Given the description of an element on the screen output the (x, y) to click on. 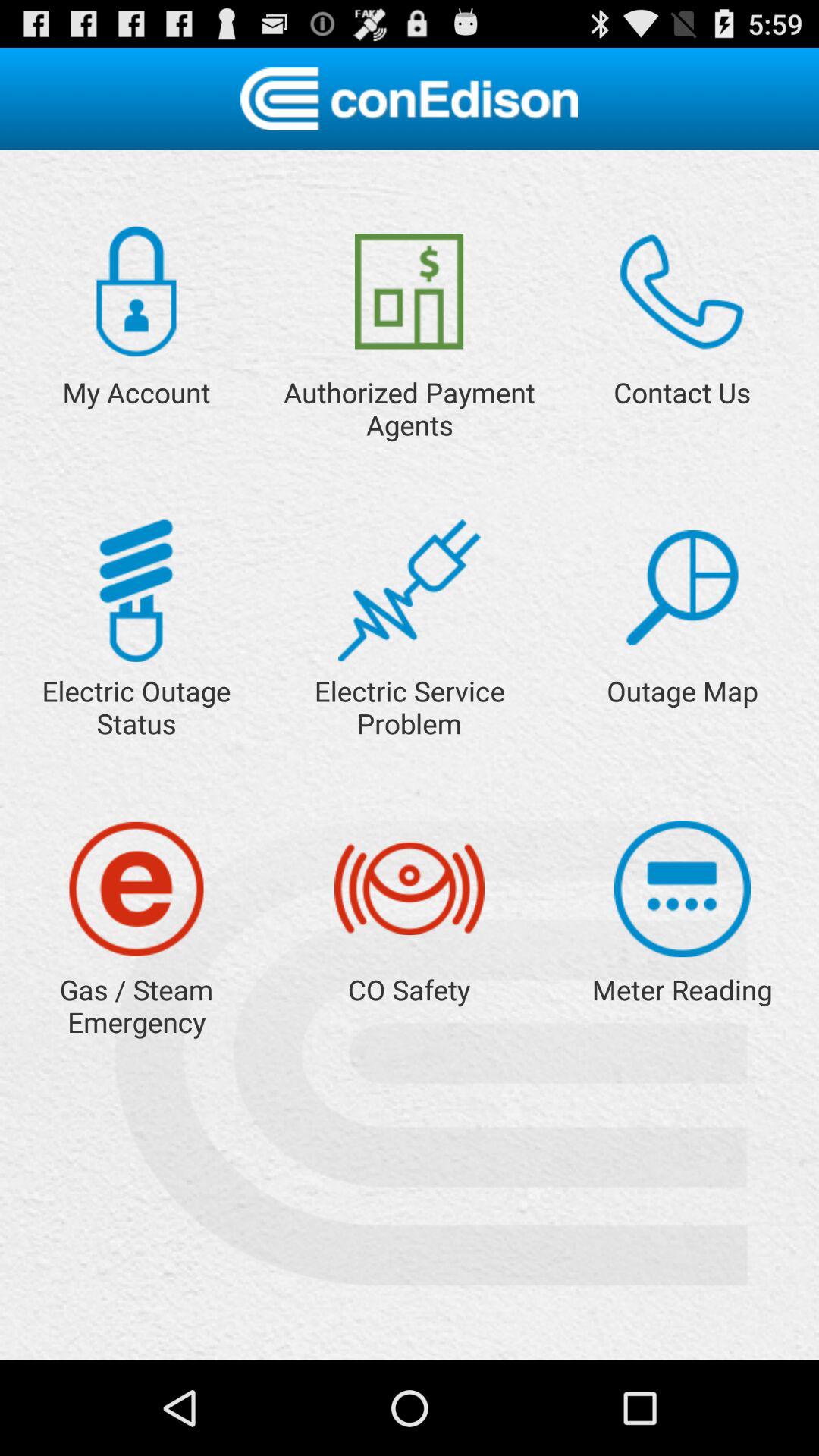
payment navigation button (408, 291)
